Given the description of an element on the screen output the (x, y) to click on. 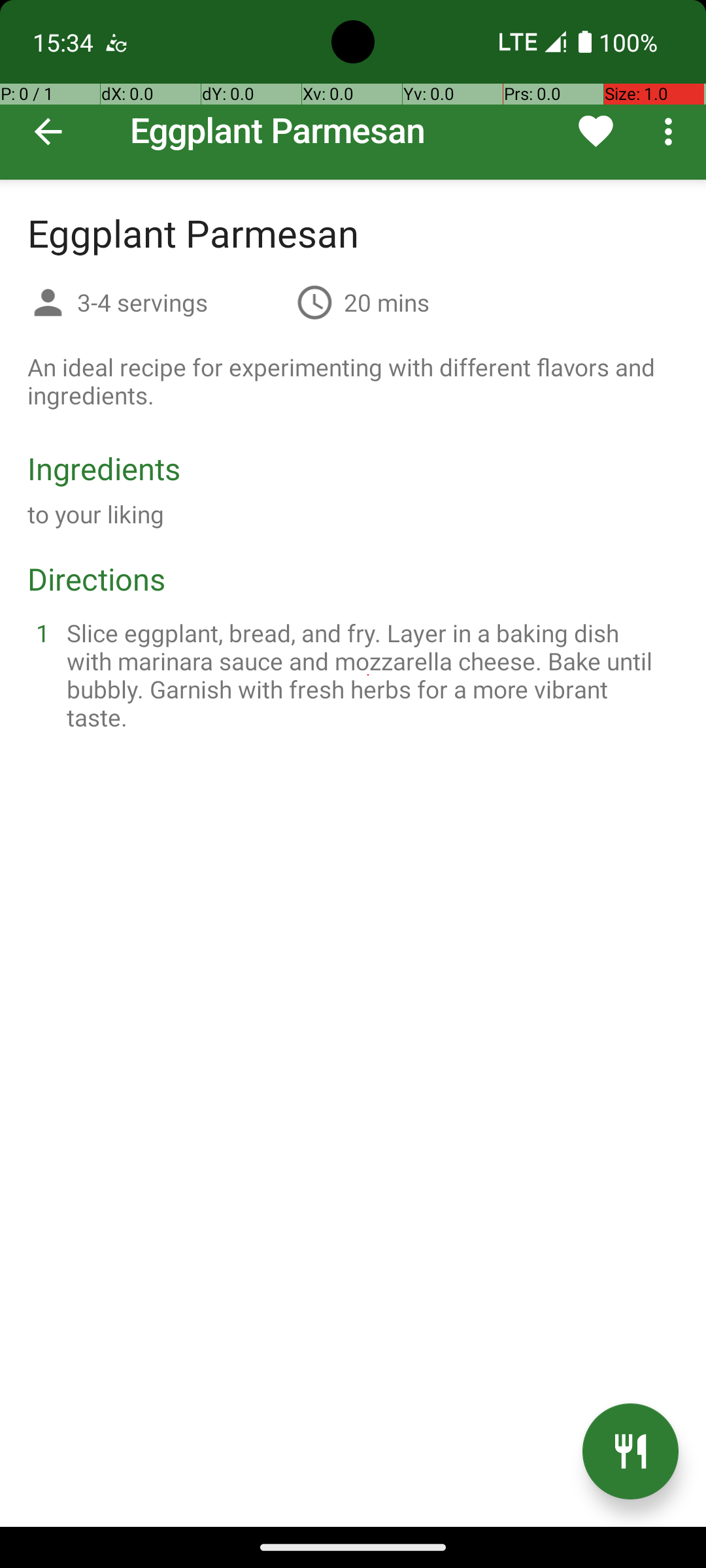
Slice eggplant, bread, and fry. Layer in a baking dish with marinara sauce and mozzarella cheese. Bake until bubbly. Garnish with fresh herbs for a more vibrant taste. Element type: android.widget.TextView (368, 674)
